Given the description of an element on the screen output the (x, y) to click on. 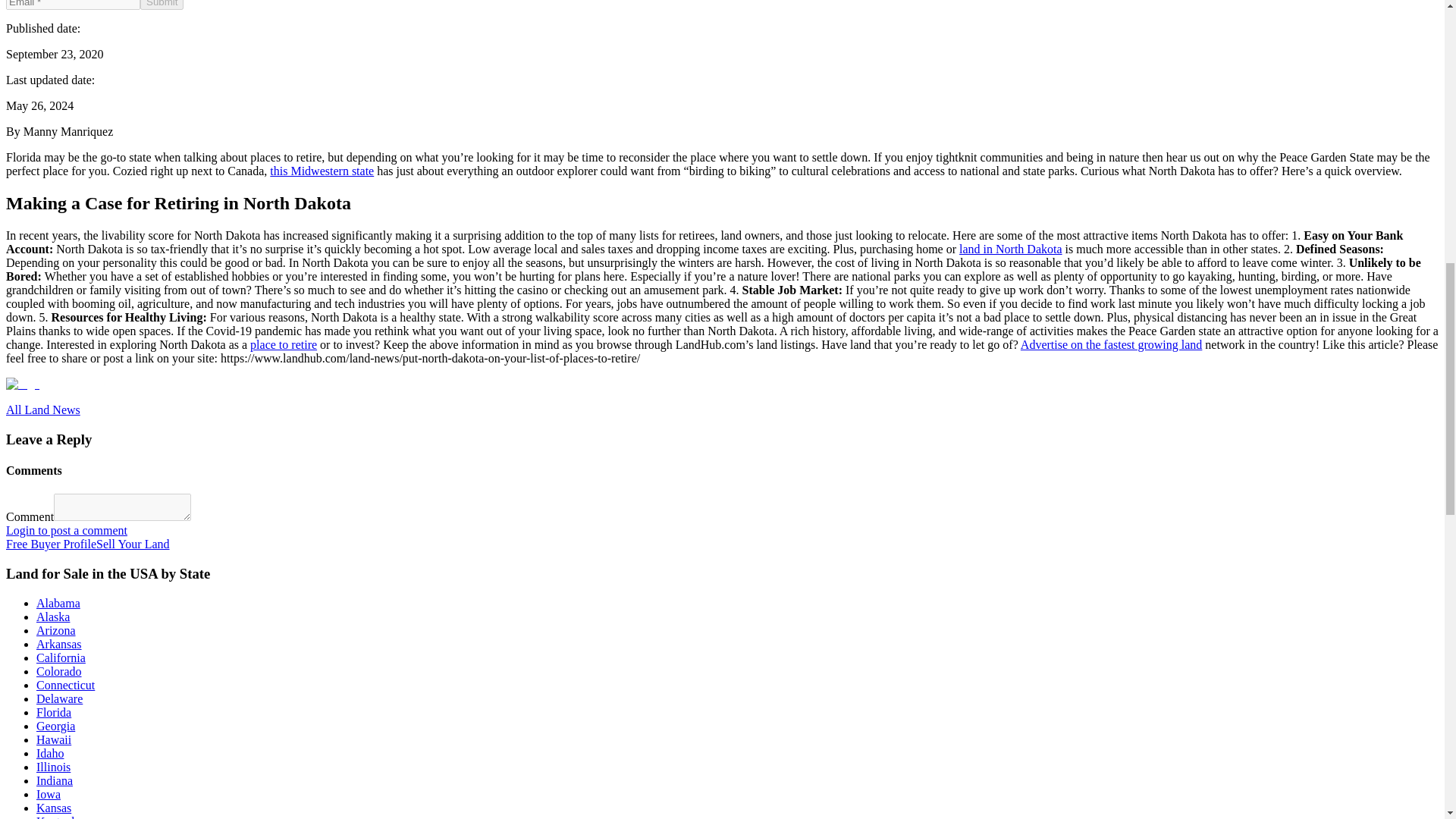
Advertise on the fastest growing land (1111, 344)
Arkansas (58, 644)
Illinois (52, 766)
this Midwestern state (321, 170)
Kansas (53, 807)
Login to post a comment (66, 530)
place to retire (283, 344)
land in North Dakota (1010, 248)
Georgia (55, 725)
Florida (53, 712)
Alaska (52, 616)
Arizona (55, 630)
Hawaii (53, 739)
Idaho (50, 753)
Submit (161, 4)
